Given the description of an element on the screen output the (x, y) to click on. 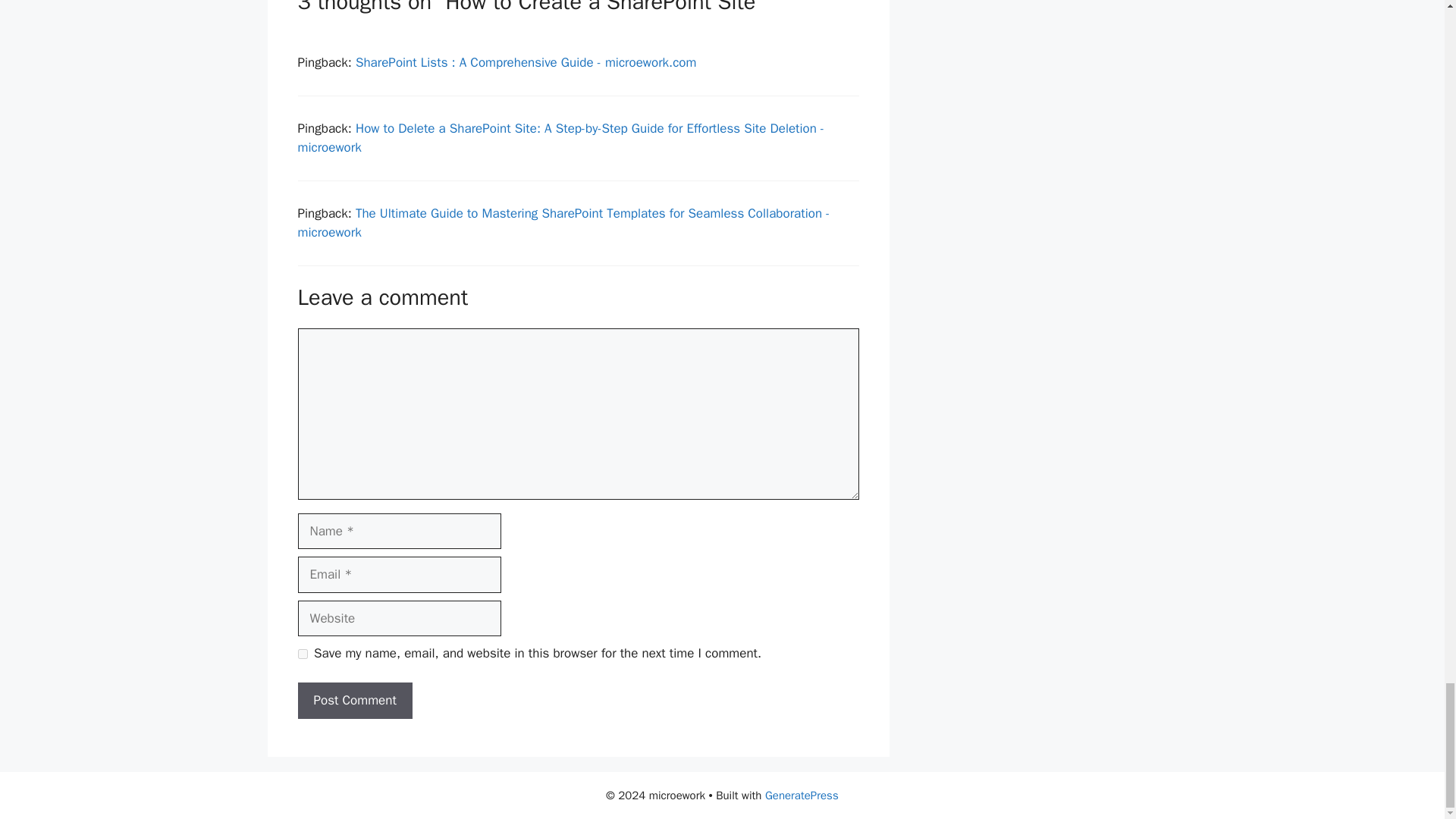
Post Comment (354, 700)
Post Comment (354, 700)
SharePoint Lists : A Comprehensive Guide - microework.com (526, 62)
yes (302, 654)
